Given the description of an element on the screen output the (x, y) to click on. 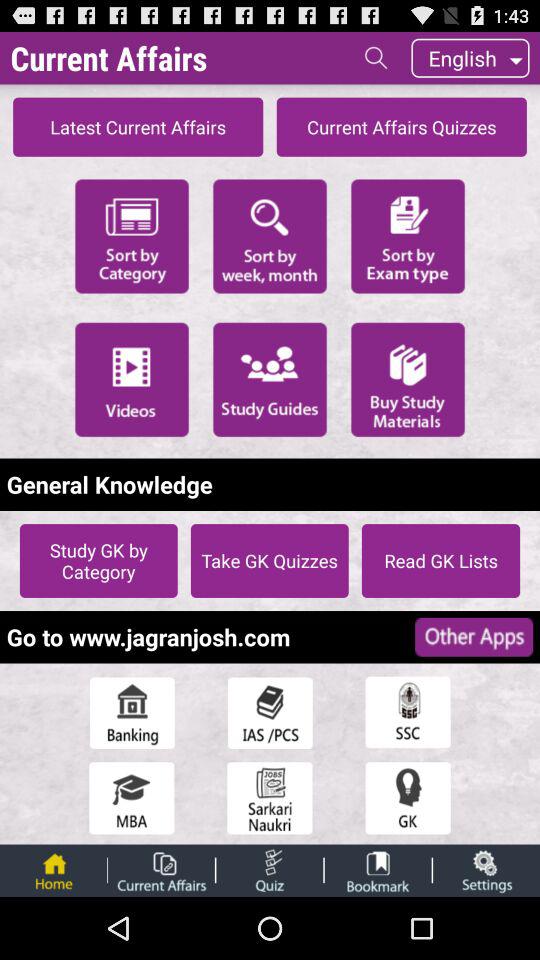
toggle sorting (269, 234)
